Given the description of an element on the screen output the (x, y) to click on. 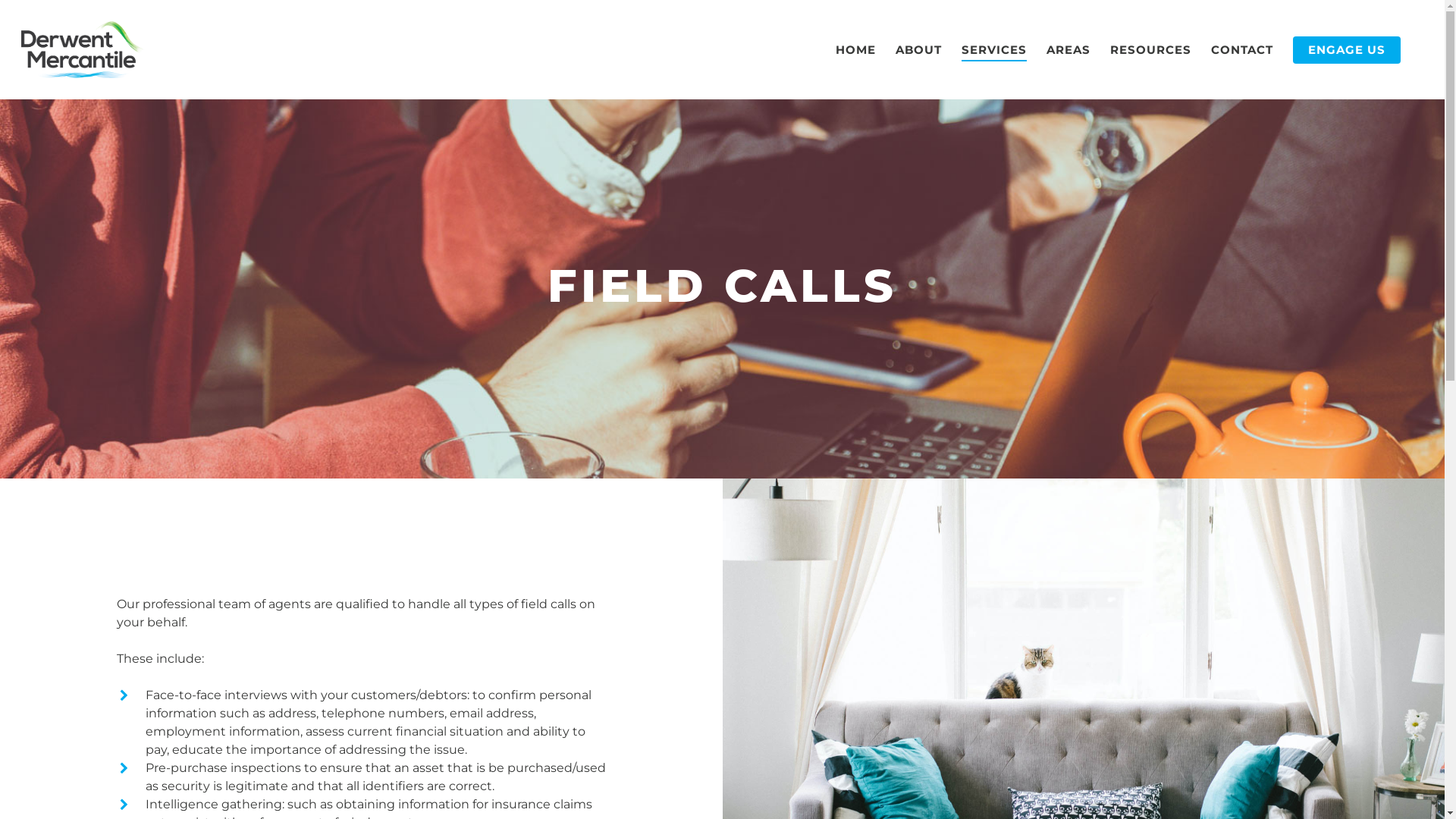
RESOURCES Element type: text (1150, 49)
CONTACT Element type: text (1242, 49)
ENGAGE US Element type: text (1346, 49)
ABOUT Element type: text (918, 49)
SERVICES Element type: text (993, 49)
AREAS Element type: text (1068, 49)
HOME Element type: text (855, 49)
